Given the description of an element on the screen output the (x, y) to click on. 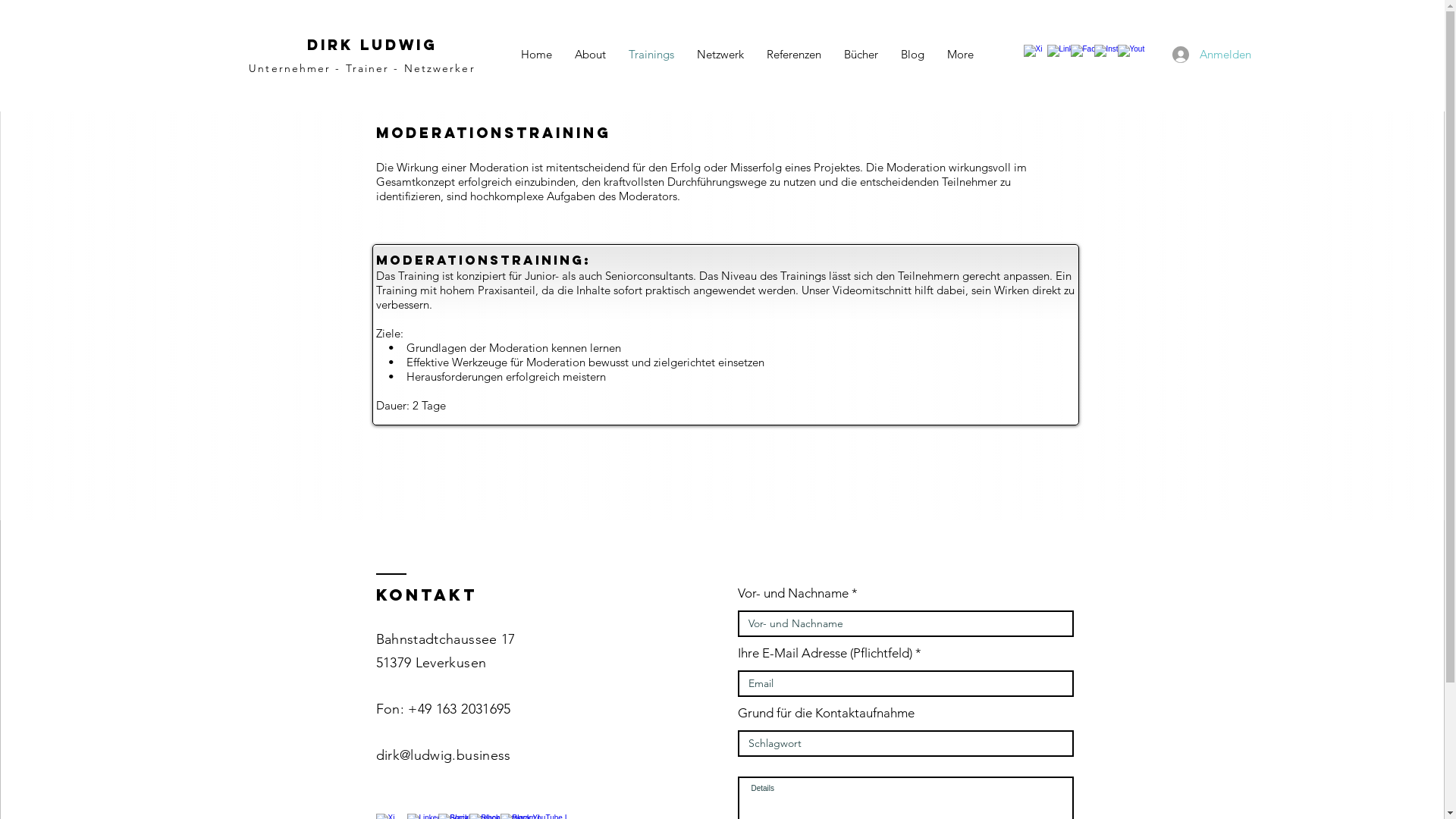
About Element type: text (589, 54)
Referenzen Element type: text (793, 54)
Blog Element type: text (911, 54)
Netzwerk Element type: text (720, 54)
dirk@ludwig.business Element type: text (443, 754)
Unternehmer - Trainer - Netzwerker Element type: text (361, 68)
Home Element type: text (536, 54)
Anmelden Element type: text (1190, 53)
Dirk Ludwig Element type: text (371, 44)
Trainings Element type: text (651, 54)
